Given the description of an element on the screen output the (x, y) to click on. 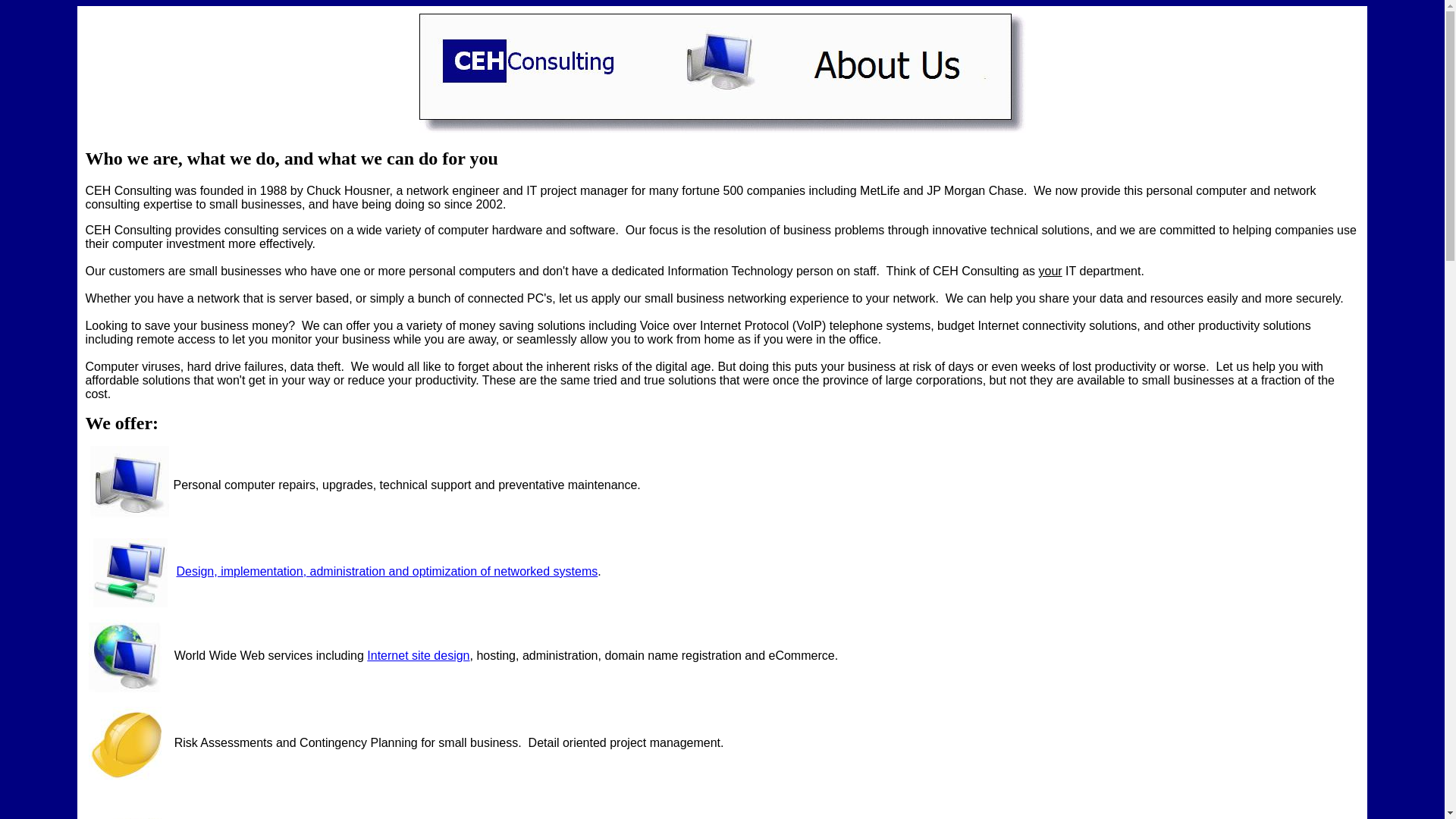
Internet site design (417, 655)
